Given the description of an element on the screen output the (x, y) to click on. 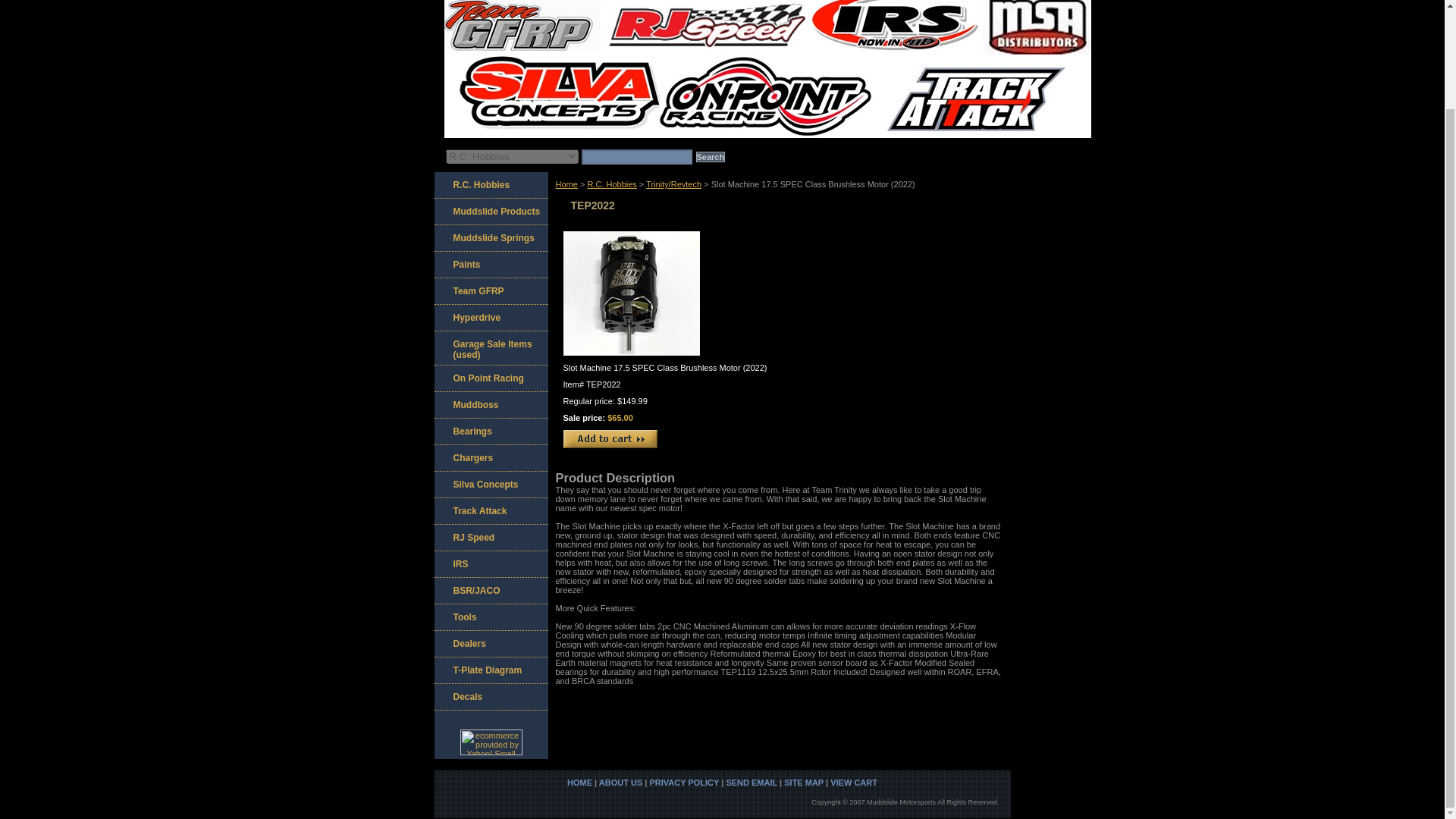
Team GFRP (490, 291)
Hyperdrive (490, 317)
Bearings (490, 431)
Tools (490, 617)
Muddslide Springs (490, 238)
Add to cart (609, 438)
IRS (490, 564)
Muddslide Springs (490, 238)
Muddboss (490, 405)
Hyperdrive (490, 317)
Paints (490, 264)
Muddboss (490, 405)
IRS (490, 564)
Search (710, 156)
RJ Speed (490, 537)
